Given the description of an element on the screen output the (x, y) to click on. 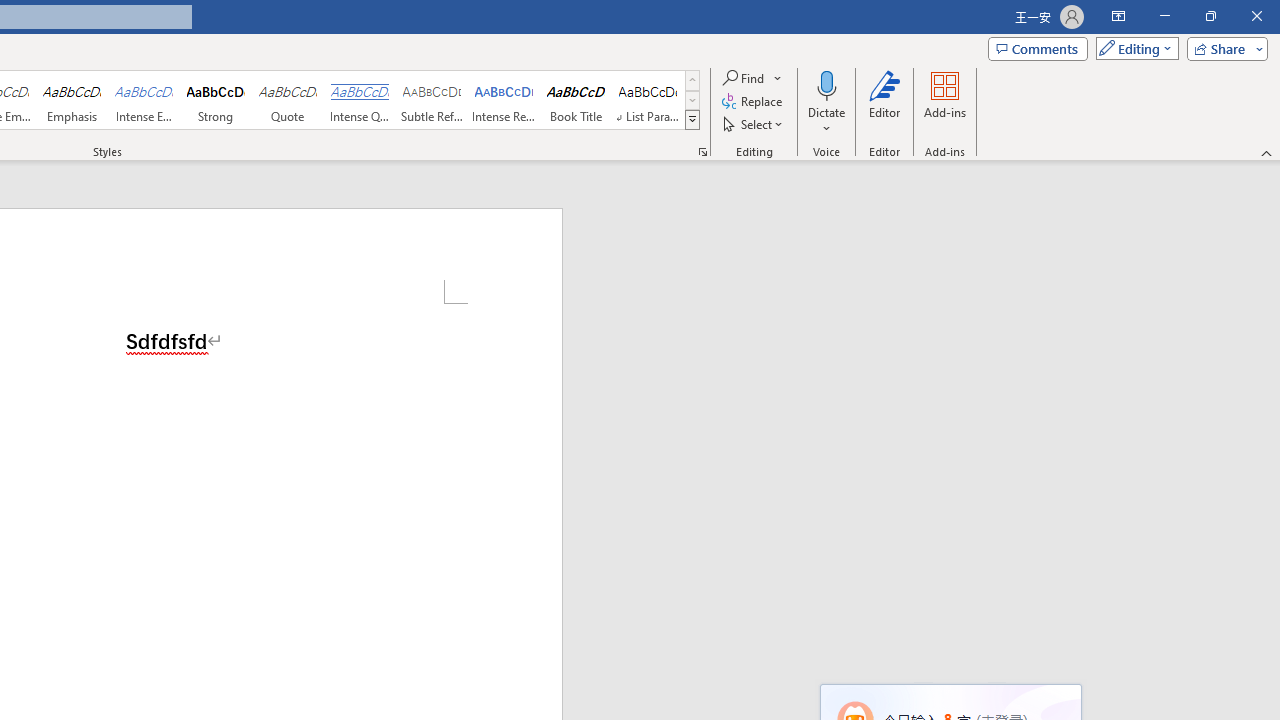
Intense Reference (504, 100)
Subtle Reference (431, 100)
Intense Quote (359, 100)
